Given the description of an element on the screen output the (x, y) to click on. 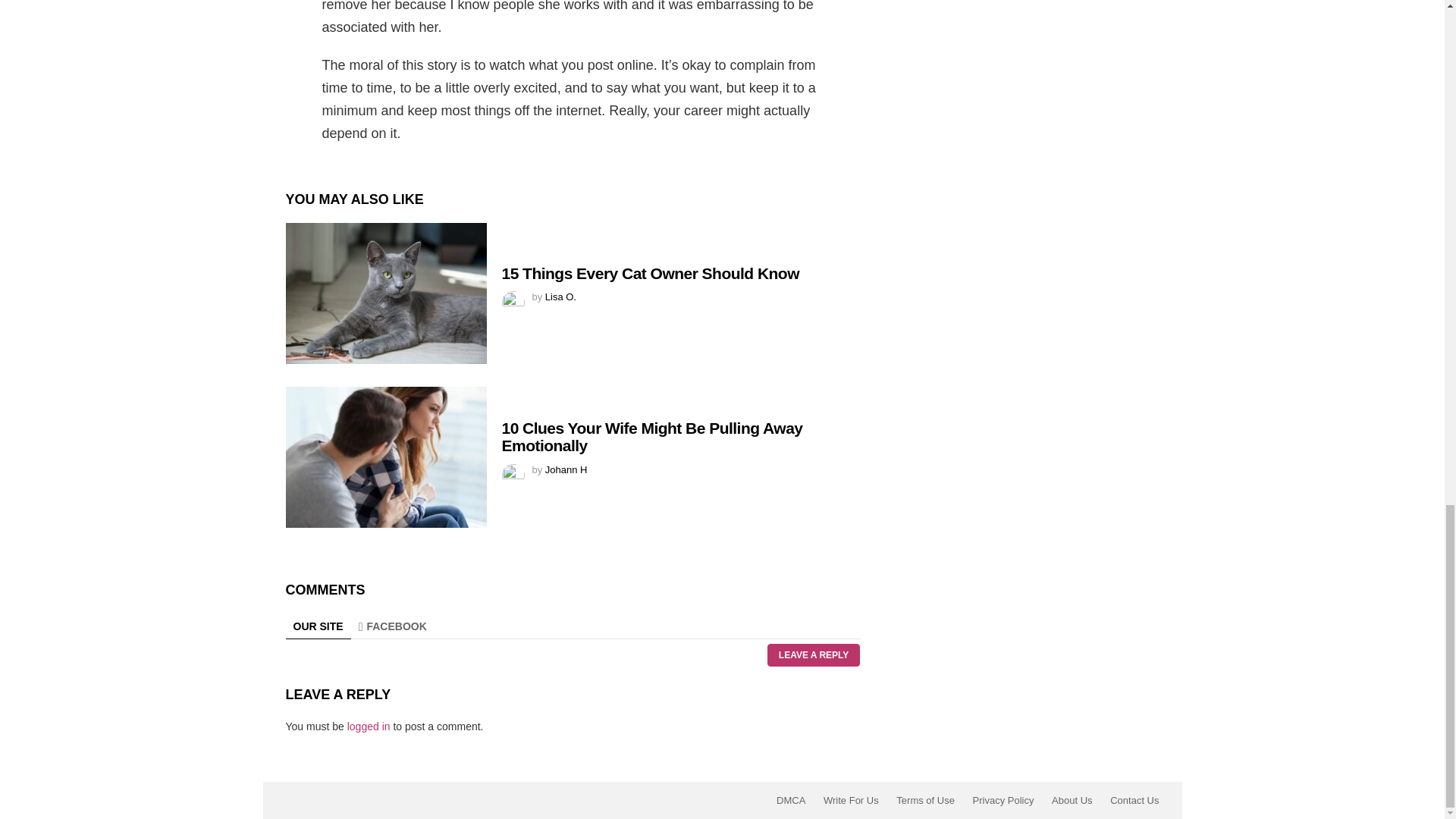
15 Things Every Cat Owner Should Know (650, 272)
LEAVE A REPLY (813, 654)
About Us (1071, 800)
15 Things Every Cat Owner Should Know (385, 292)
Contact Us (1134, 800)
DMCA (790, 800)
10 Clues Your Wife Might Be Pulling Away Emotionally (652, 437)
Terms of Use (925, 800)
OUR SITE (317, 626)
10 Clues Your Wife Might Be Pulling Away Emotionally (385, 456)
Privacy Policy (1003, 800)
Posts by Johann H (566, 469)
logged in (368, 726)
FACEBOOK (391, 626)
Posts by Lisa O. (560, 296)
